Given the description of an element on the screen output the (x, y) to click on. 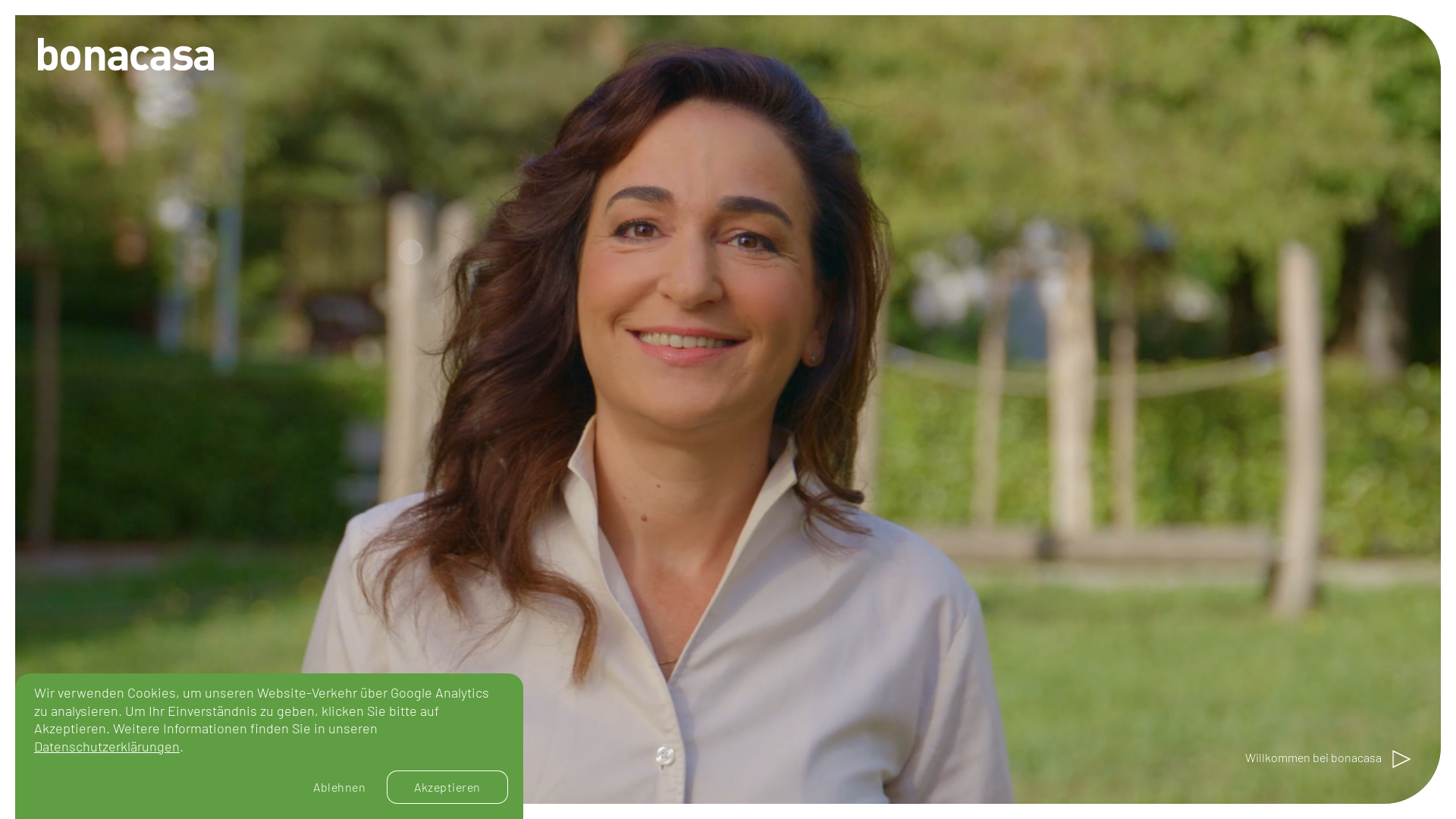
Ablehnen Element type: text (339, 787)
Willkommen bei bonacasa Element type: text (1328, 758)
Akzeptieren Element type: text (447, 786)
Privatkunden Element type: text (1083, 644)
